Given the description of an element on the screen output the (x, y) to click on. 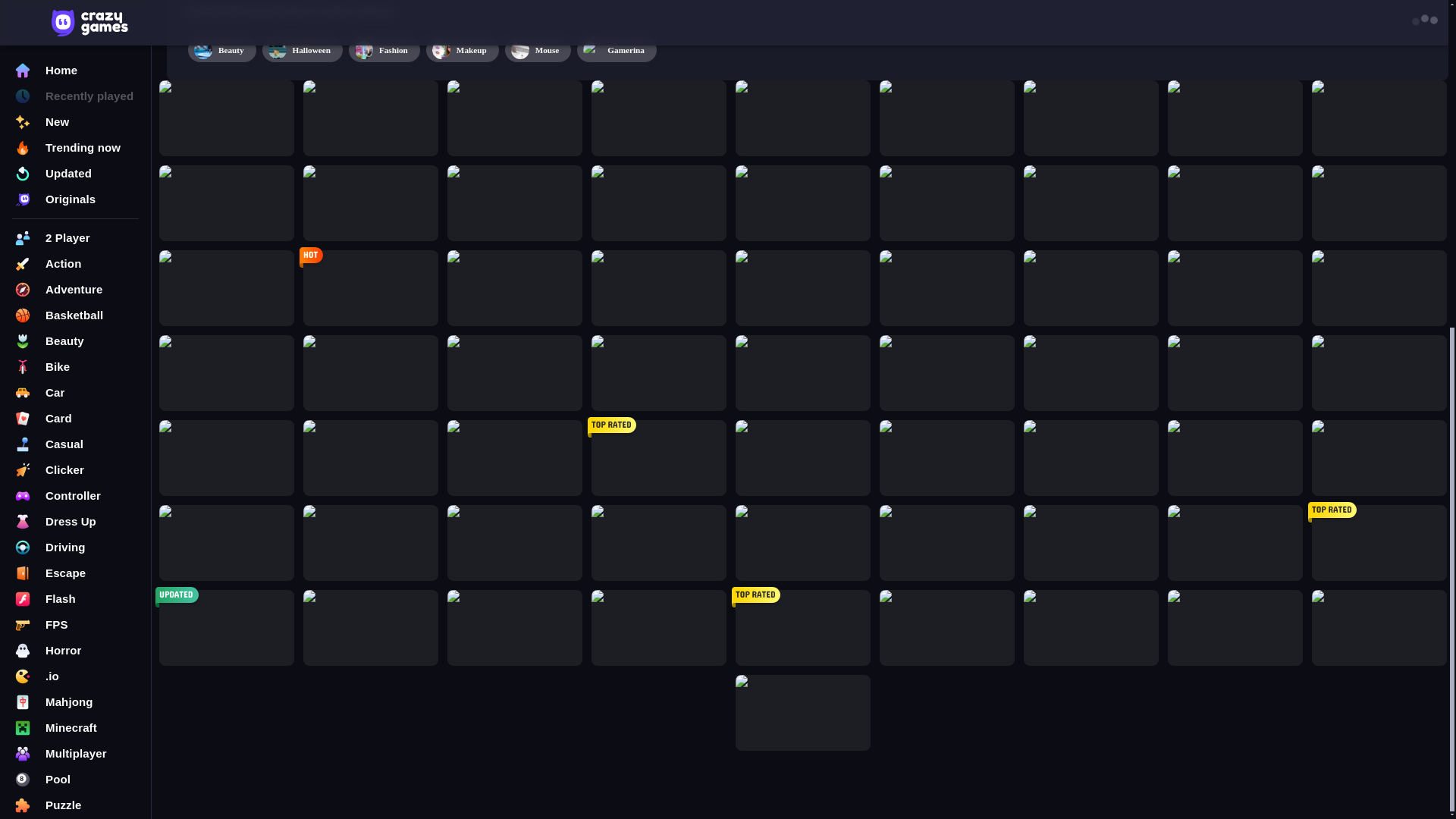
Tags (75, 431)
Shooting (75, 289)
Contact us (75, 463)
Tower Defense (75, 392)
FPS (75, 83)
Stickman (75, 366)
Soccer (75, 315)
Sports (75, 340)
Pool (75, 237)
English (73, 503)
